Given the description of an element on the screen output the (x, y) to click on. 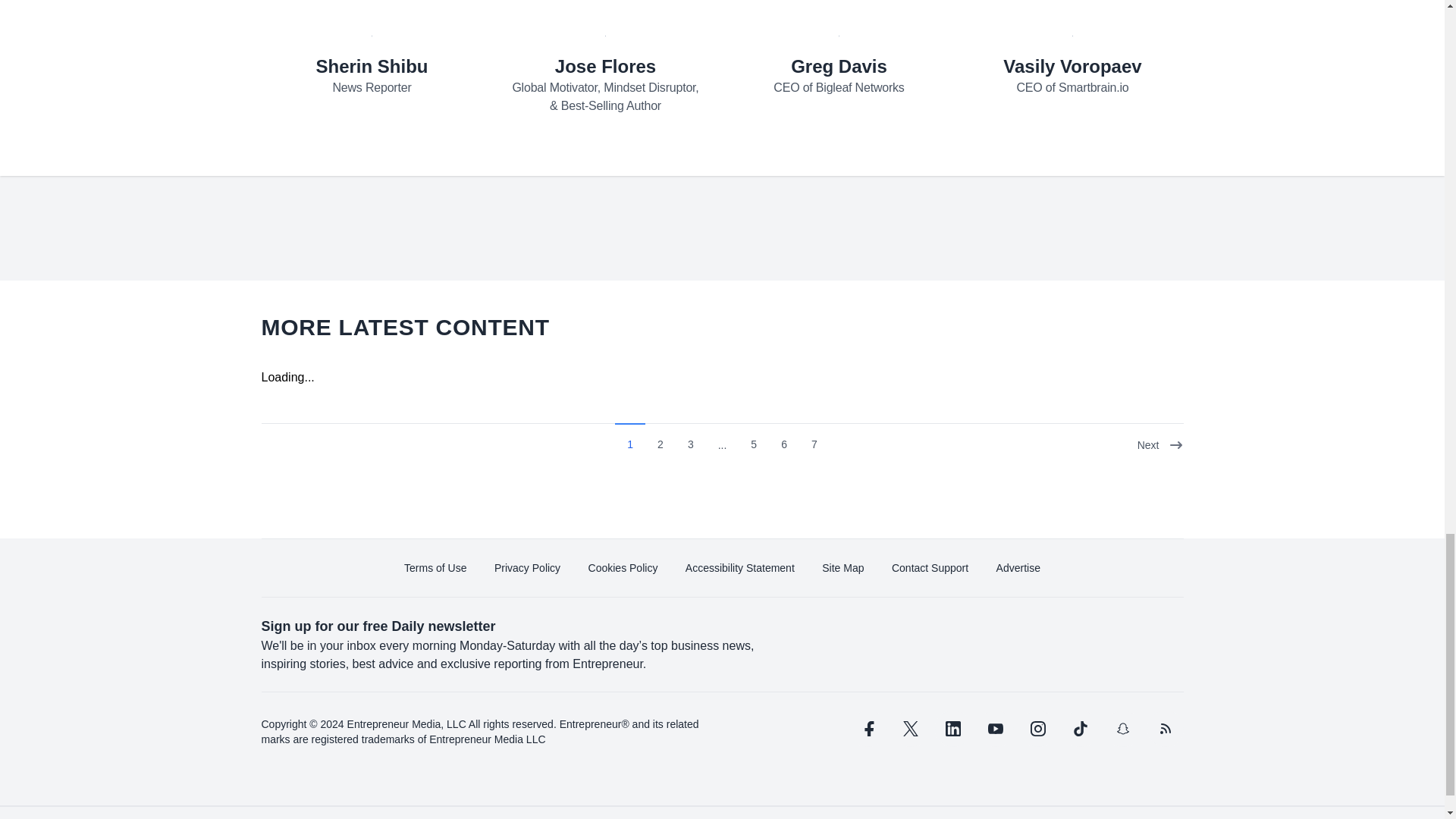
facebook (866, 728)
rss (1164, 728)
twitter (909, 728)
tiktok (1079, 728)
youtube (994, 728)
linkedin (952, 728)
snapchat (1121, 728)
instagram (1037, 728)
